Given the description of an element on the screen output the (x, y) to click on. 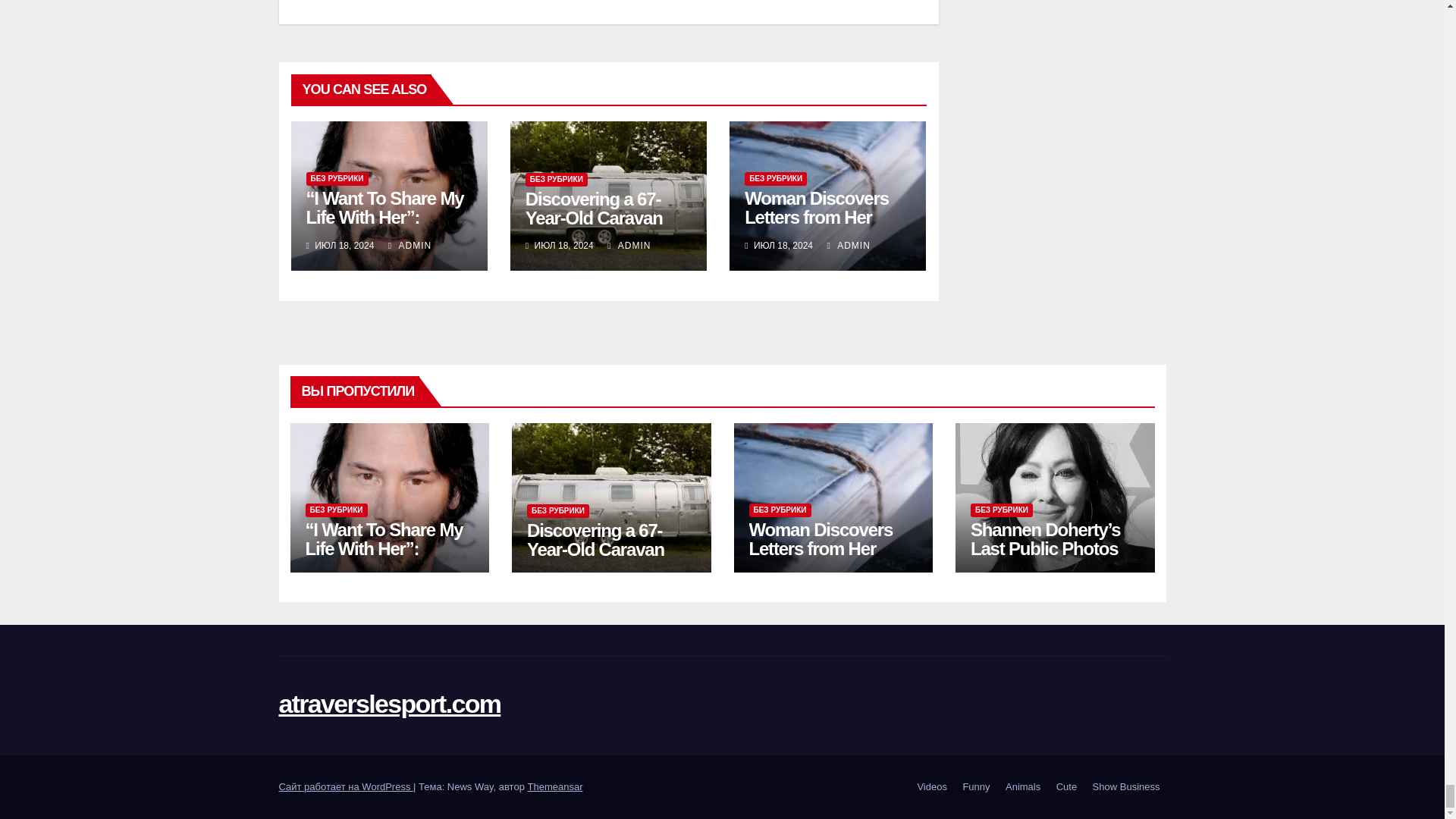
Permalink to: Discovering a 67-Year-Old Caravan (593, 208)
Discovering a 67-Year-Old Caravan (593, 208)
ADMIN (409, 245)
ADMIN (848, 245)
ADMIN (628, 245)
